Given the description of an element on the screen output the (x, y) to click on. 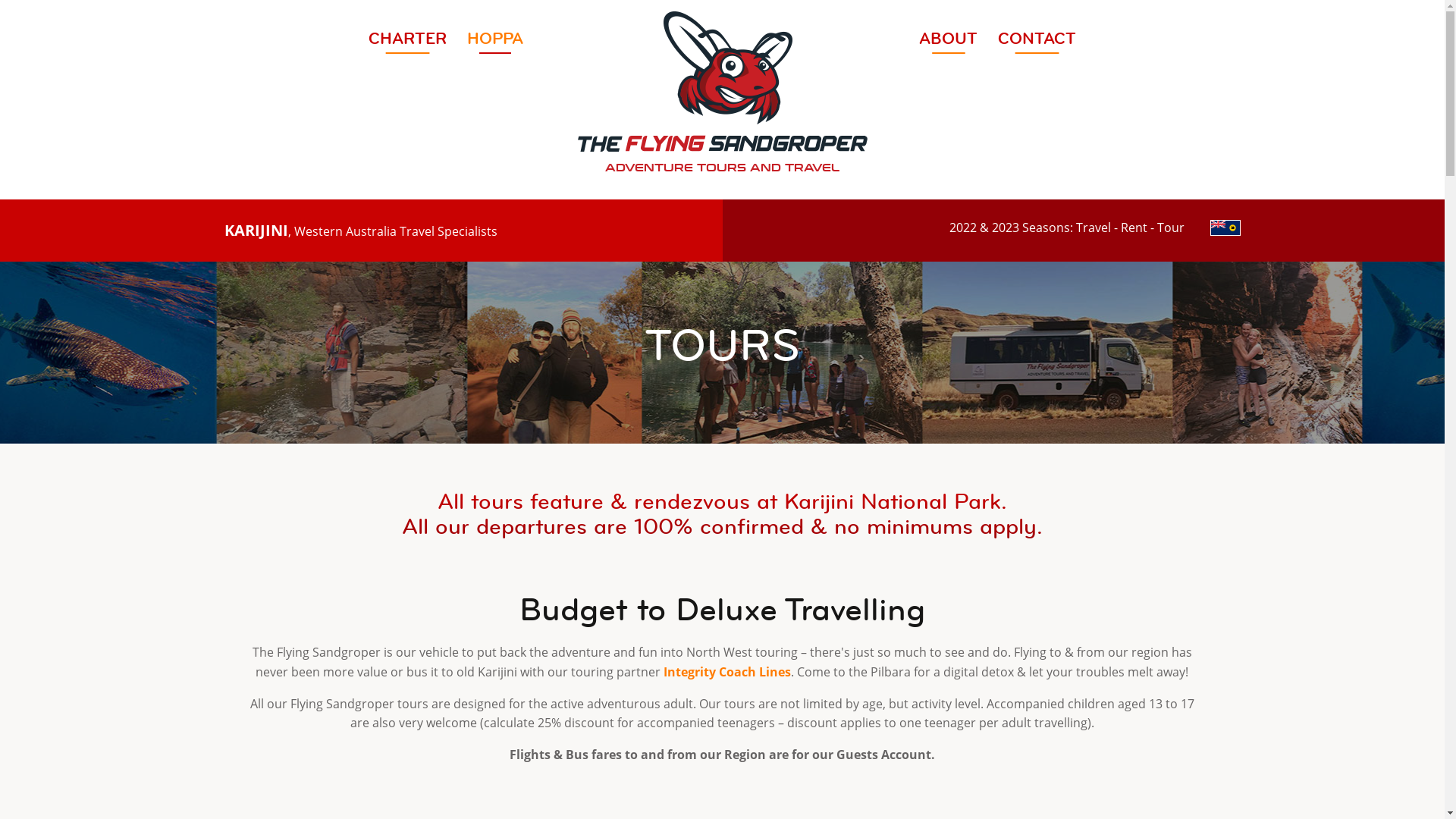
CONTACT Element type: text (1036, 37)
HOPPA Element type: text (495, 37)
CHARTER Element type: text (407, 37)
Integrity Coach Lines Element type: text (726, 671)
ABOUT Element type: text (948, 37)
